Given the description of an element on the screen output the (x, y) to click on. 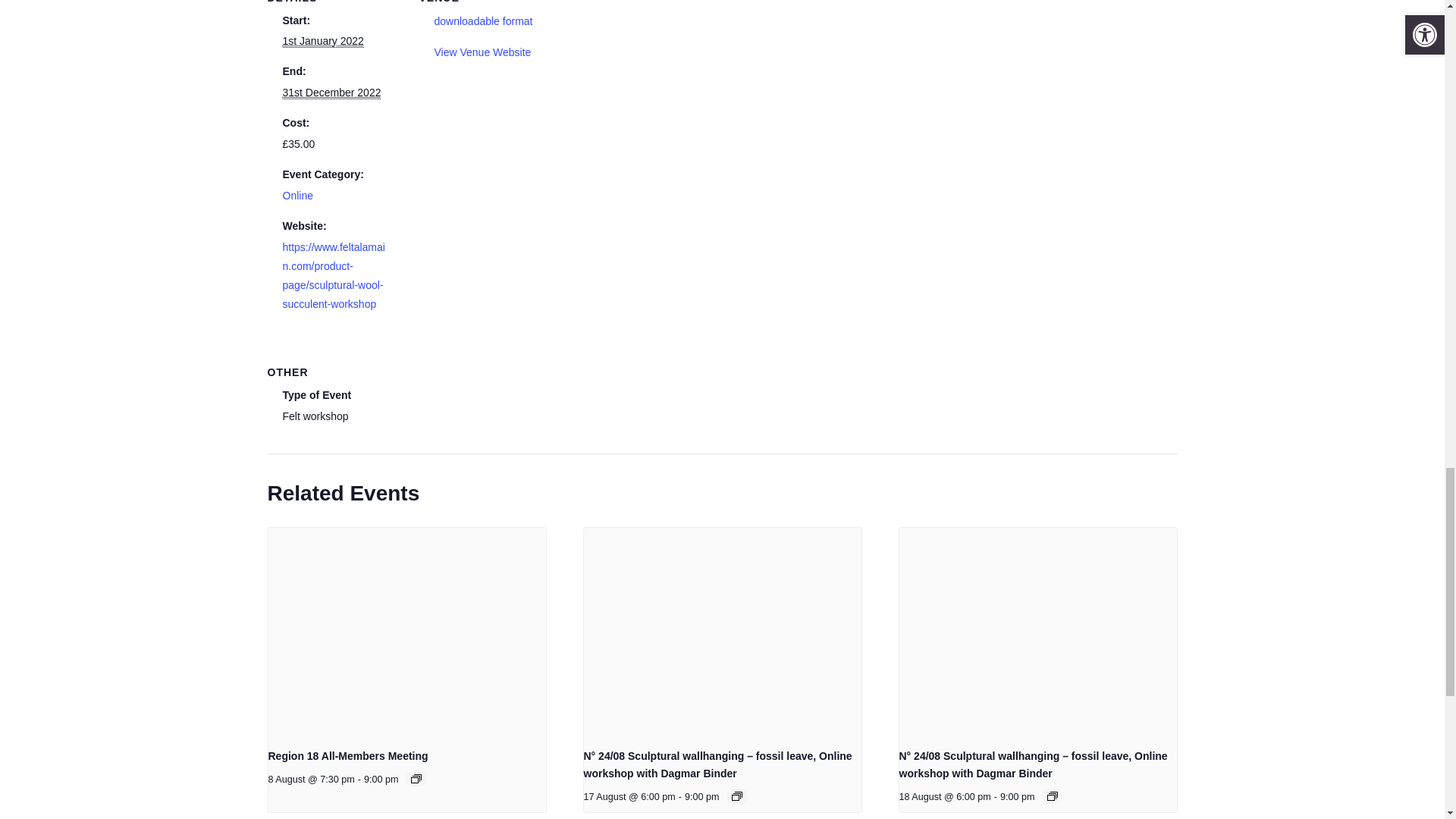
Event Series (737, 795)
Event Series (1052, 795)
Event Series (416, 777)
2022-01-01 (322, 41)
2022-12-31 (331, 92)
